Given the description of an element on the screen output the (x, y) to click on. 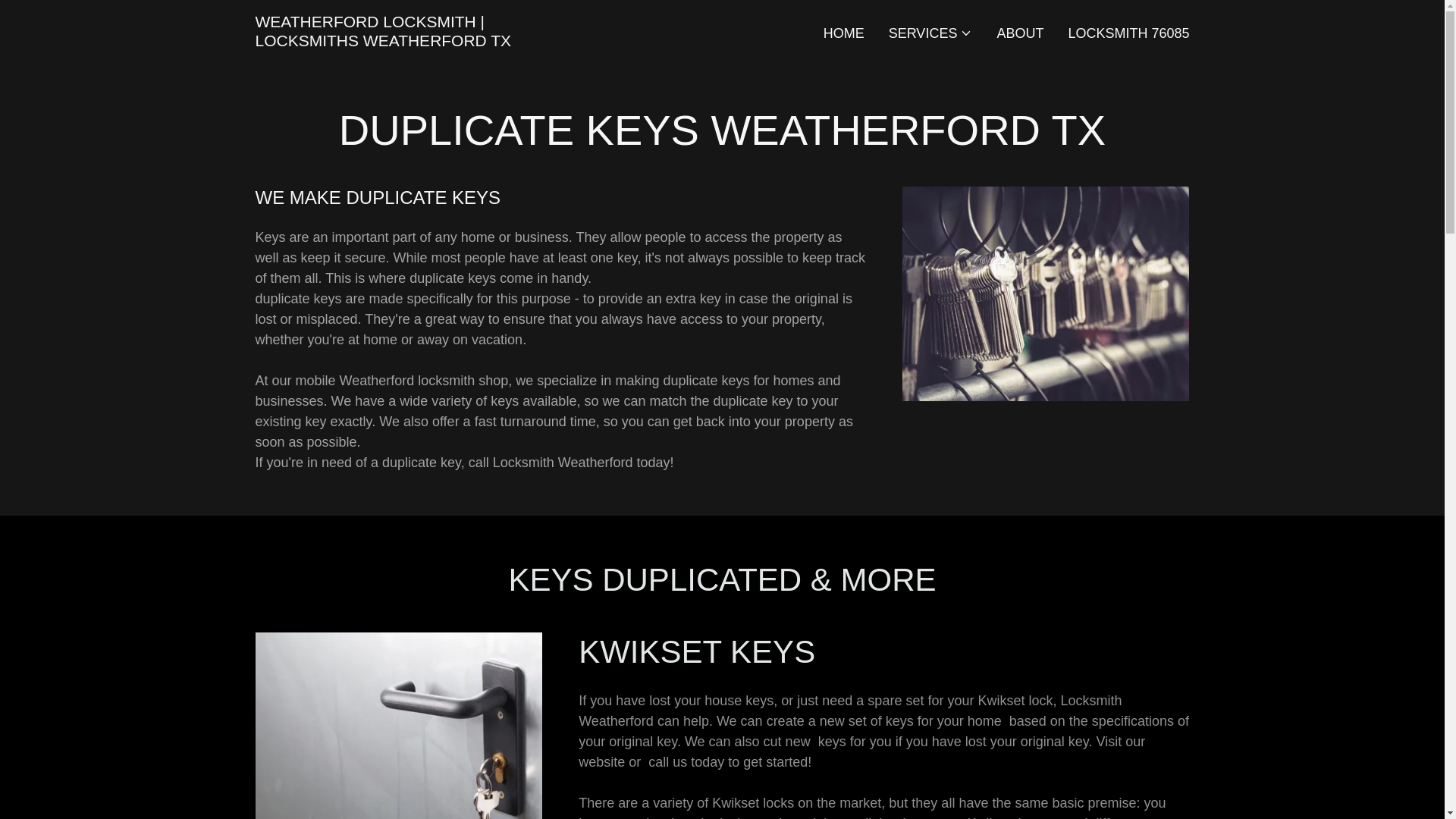
LOCKSMITH 76085 (1127, 32)
ABOUT (1019, 32)
HOME (843, 32)
SERVICES (930, 33)
